Given the description of an element on the screen output the (x, y) to click on. 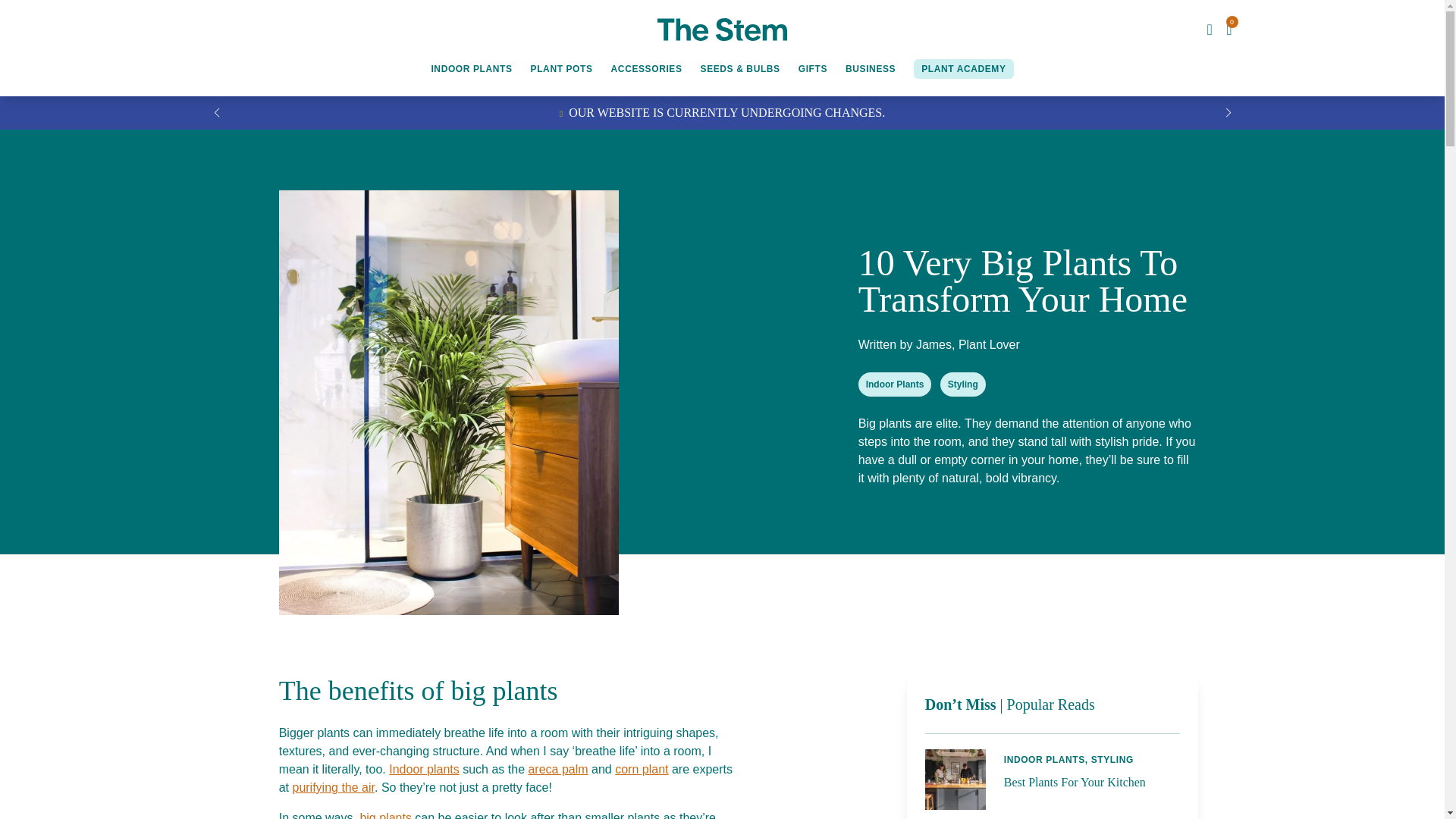
Homepage (722, 29)
